Given the description of an element on the screen output the (x, y) to click on. 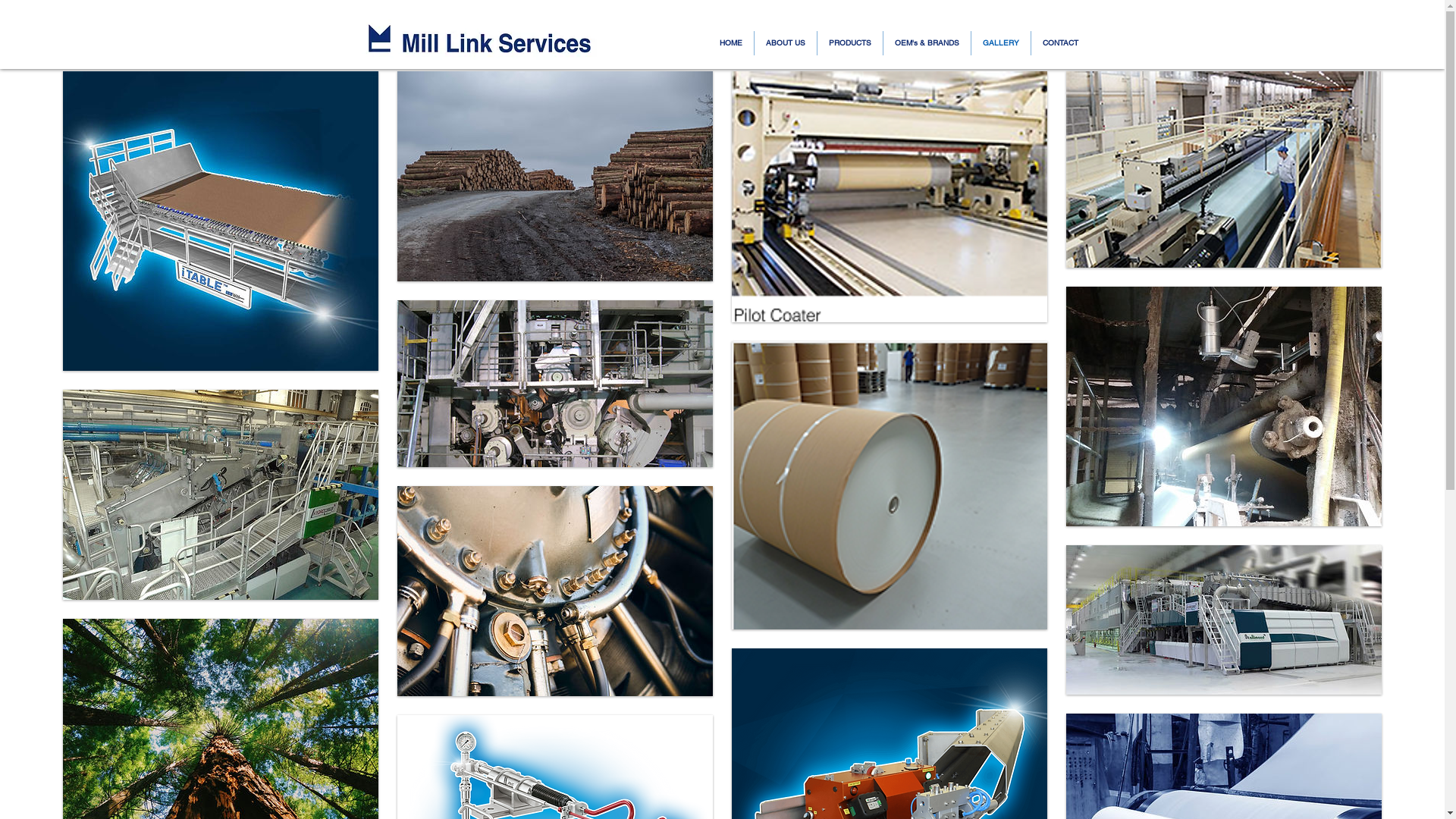
HOME Element type: text (730, 43)
PRODUCTS Element type: text (849, 43)
CONTACT Element type: text (1060, 43)
OEM's & BRANDS Element type: text (925, 43)
ABOUT US Element type: text (784, 43)
GALLERY Element type: text (999, 43)
